Given the description of an element on the screen output the (x, y) to click on. 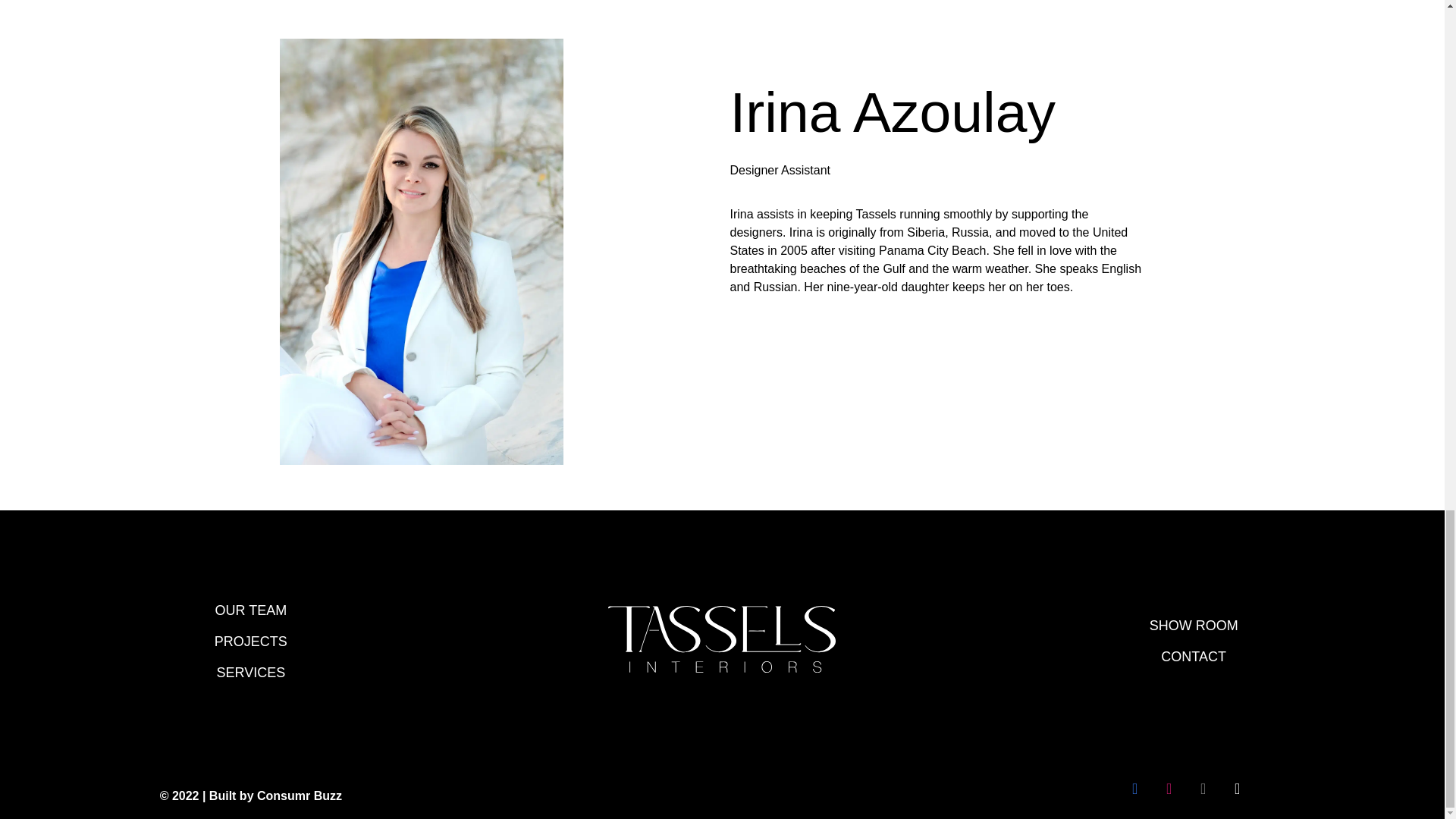
CONTACT (1193, 657)
SHOW ROOM (1193, 625)
SERVICES (251, 672)
OUR TEAM (251, 610)
PROJECTS (251, 641)
